Given the description of an element on the screen output the (x, y) to click on. 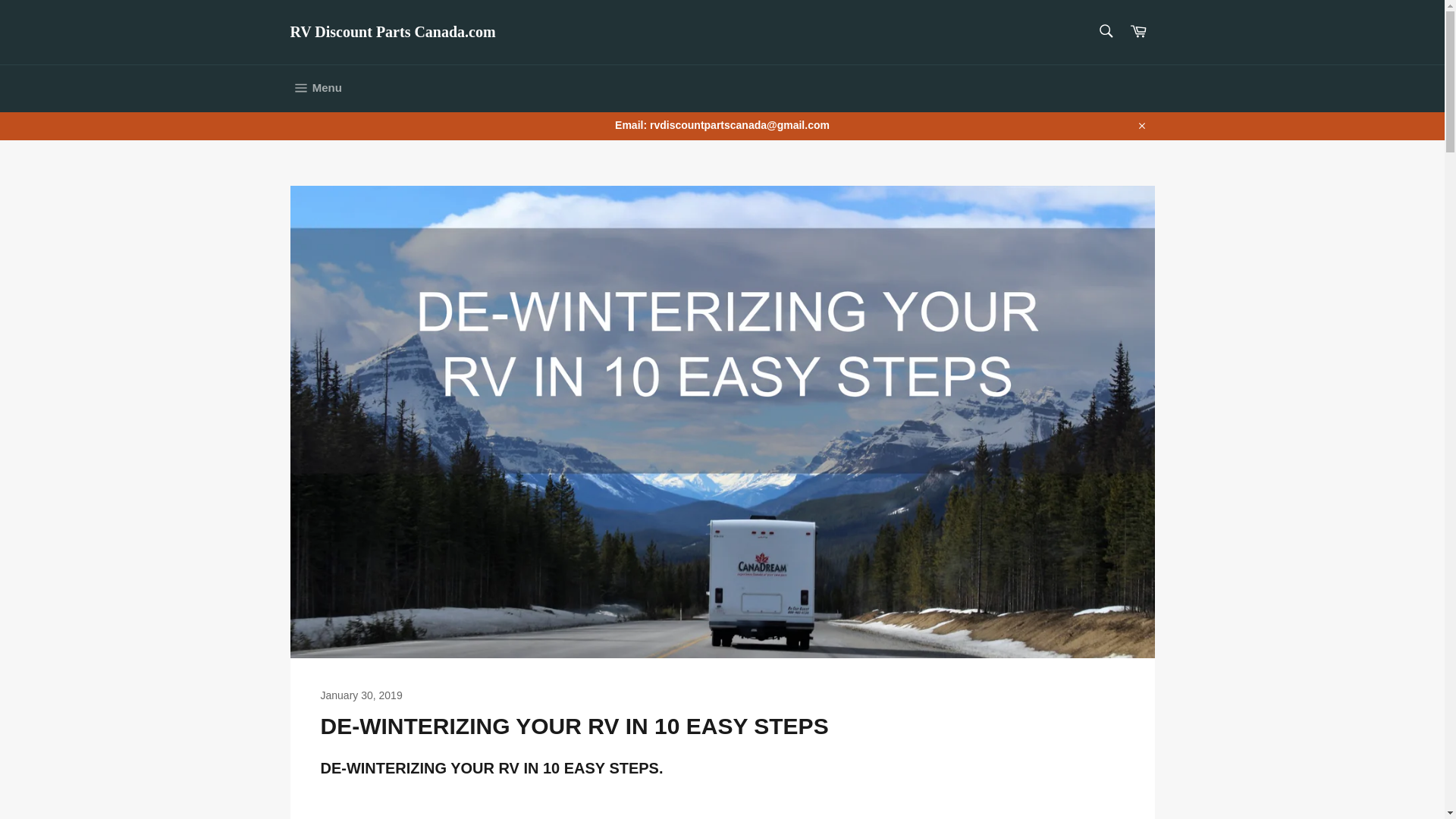
Search (1104, 30)
Cart (1138, 32)
RV Discount Parts Canada.com (392, 32)
